Given the description of an element on the screen output the (x, y) to click on. 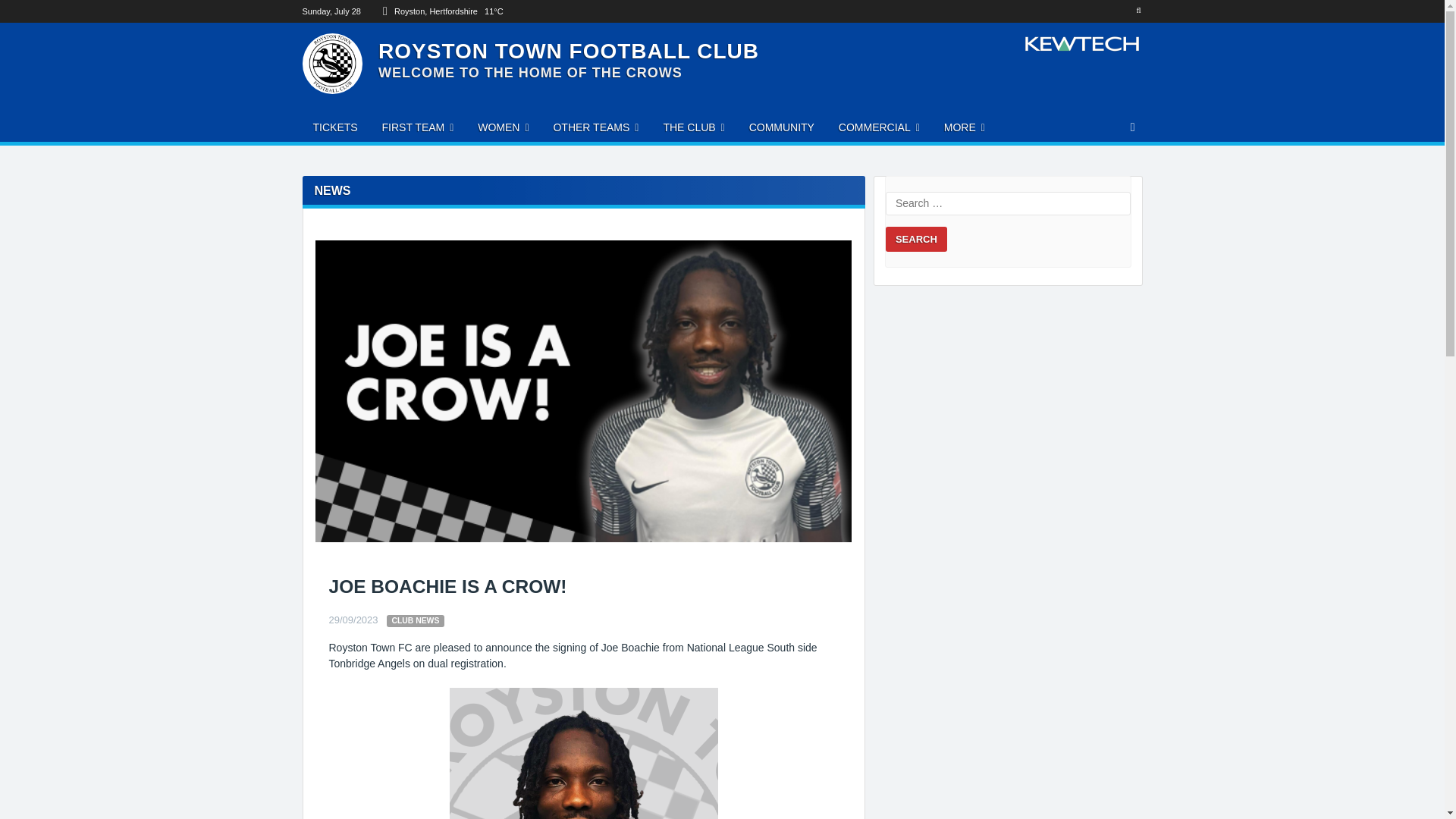
WOMEN (502, 127)
Search for: (1008, 203)
ROYSTON TOWN FOOTBALL CLUB (568, 51)
COMMUNITY (781, 126)
Search (916, 239)
COMMERCIAL (879, 127)
TICKETS (334, 126)
OTHER TEAMS (595, 127)
THE CLUB (693, 127)
Search (916, 239)
MORE (964, 127)
FIRST TEAM (417, 127)
Royston Town Football Club (568, 51)
